Given the description of an element on the screen output the (x, y) to click on. 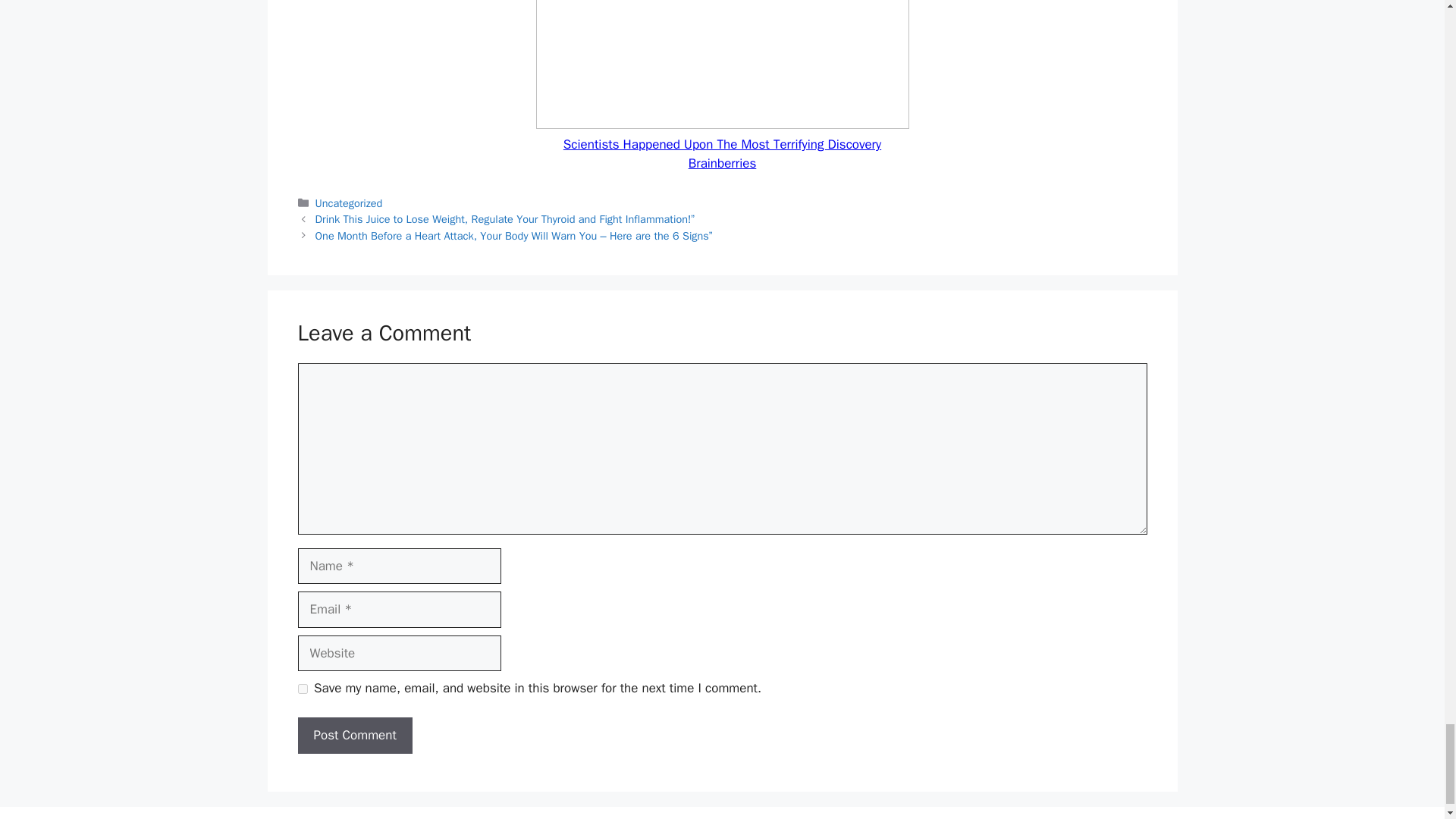
Uncategorized (348, 202)
Post Comment (354, 735)
yes (302, 688)
Post Comment (354, 735)
